Given the description of an element on the screen output the (x, y) to click on. 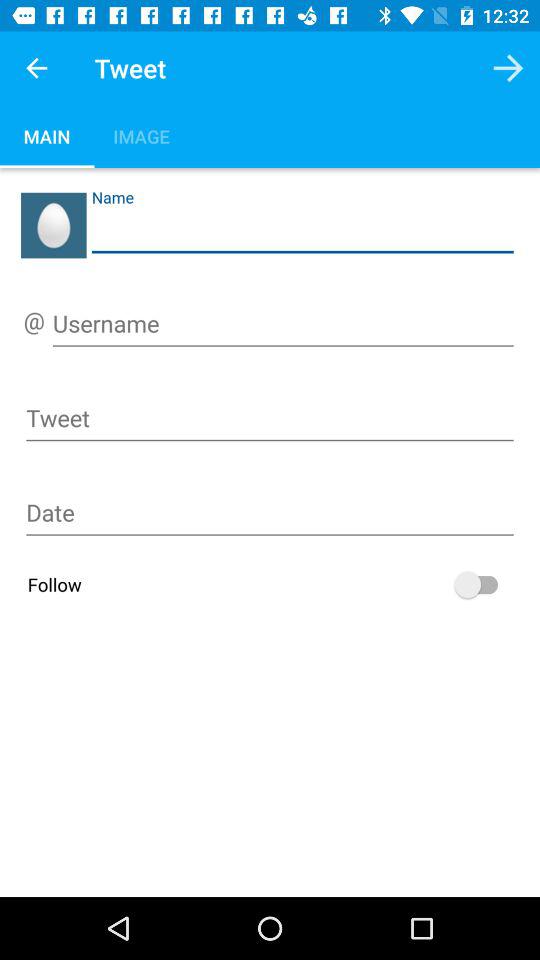
click on the date field (269, 516)
click the username field (283, 327)
click on the button next to tweet (508, 68)
go to name field select the left side image (53, 225)
click on the tweet text field above date text field (269, 421)
